Given the description of an element on the screen output the (x, y) to click on. 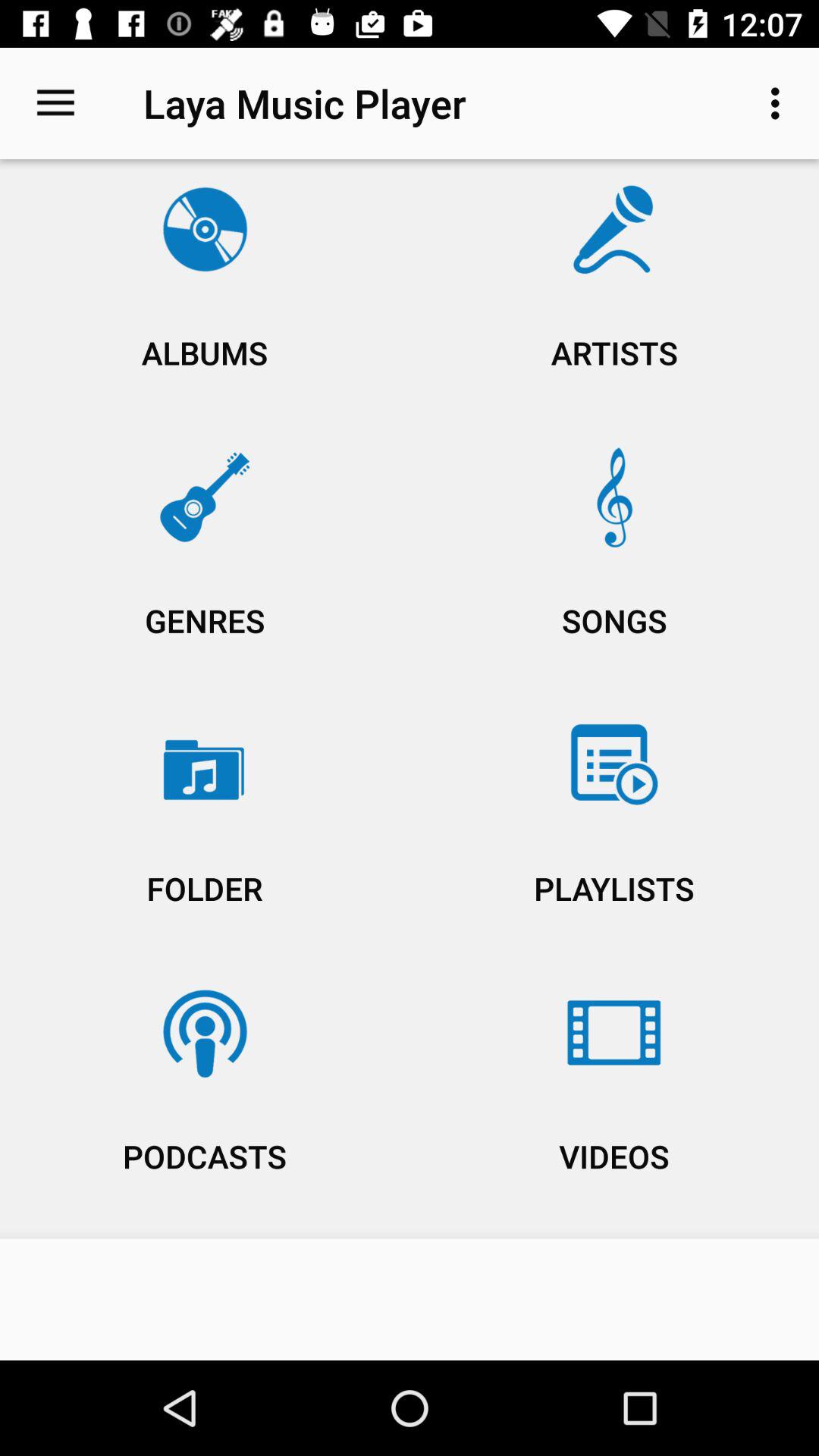
scroll until the podcasts (204, 1100)
